Given the description of an element on the screen output the (x, y) to click on. 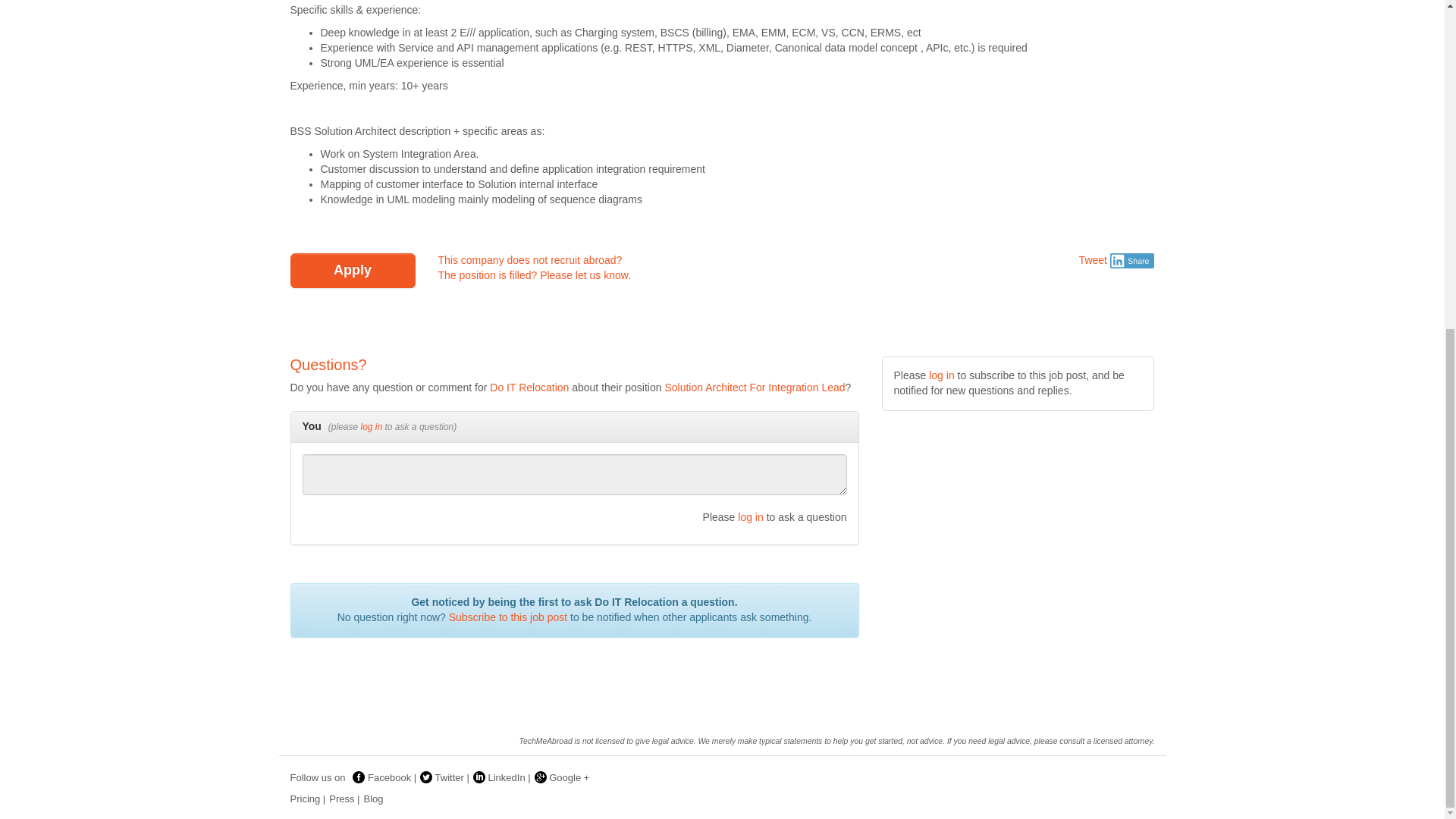
Tweet (1092, 259)
Share (1131, 260)
Blog (374, 798)
Press (345, 798)
Apply (351, 270)
Facebook (386, 777)
Pricing (309, 798)
log in (371, 426)
Subscribe to this job post (507, 616)
